Given the description of an element on the screen output the (x, y) to click on. 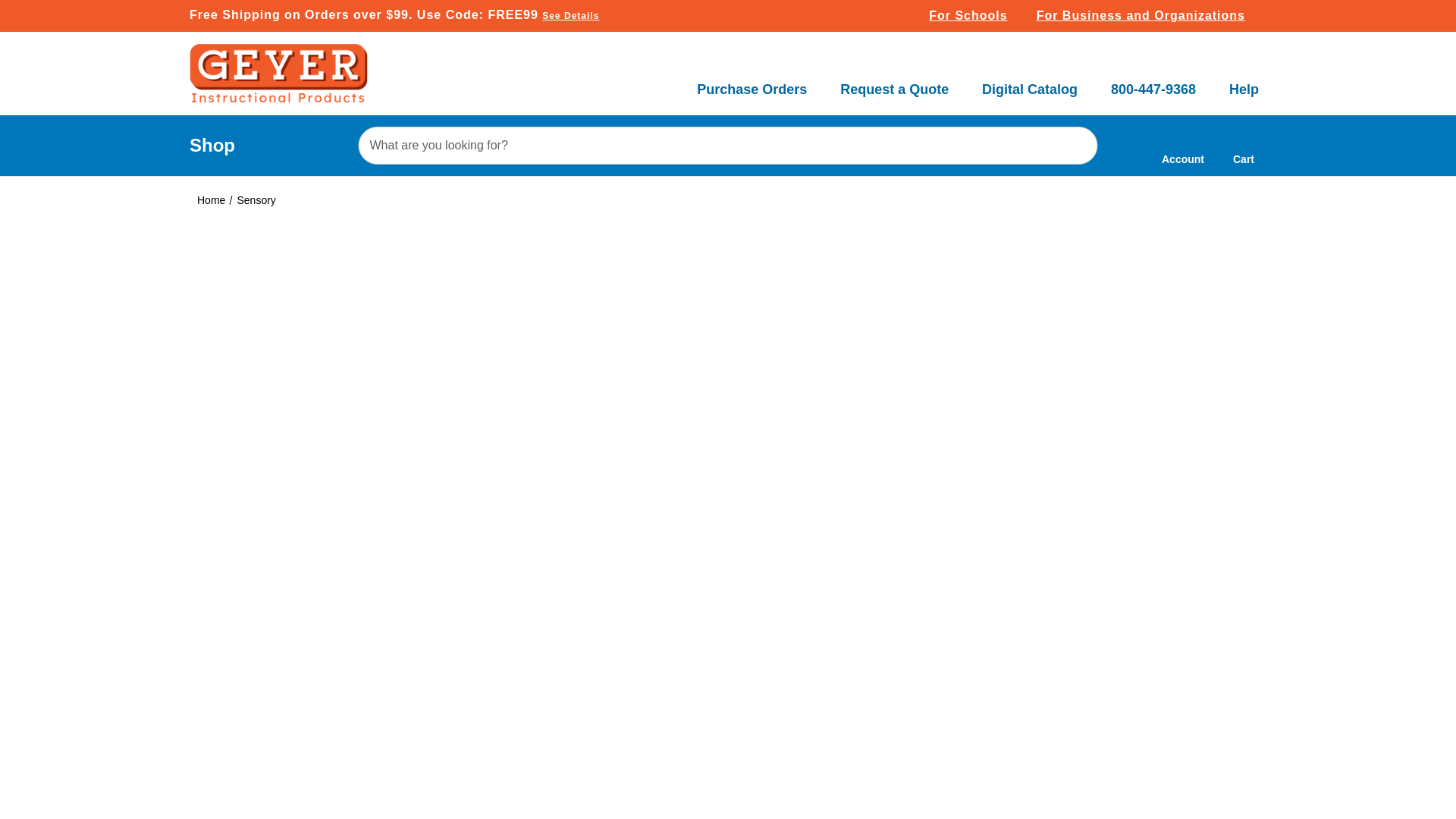
Geyer Instructional Products (278, 73)
Shop (212, 145)
Request a Quote (894, 80)
Digital Catalog (1029, 80)
Cart (1243, 145)
For Business and Organizations (1147, 15)
800-447-9368 (1152, 80)
For Schools (974, 15)
Purchase Orders (751, 80)
